Given the description of an element on the screen output the (x, y) to click on. 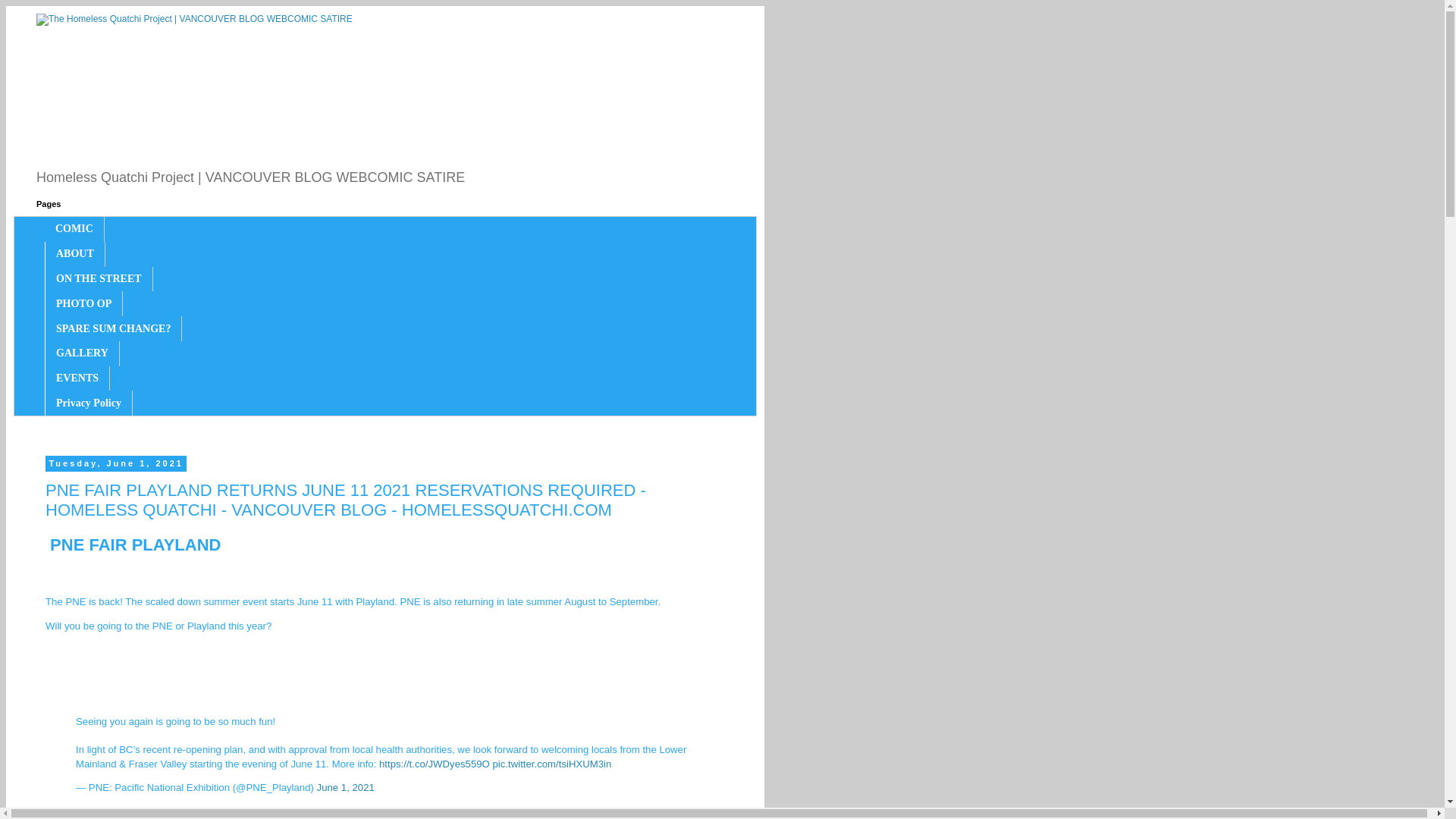
Privacy Policy (88, 402)
June 1, 2021 (345, 787)
ON THE STREET (98, 278)
PHOTO OP (83, 303)
COMIC (74, 229)
EVENTS (77, 378)
ABOUT (74, 253)
SPARE SUM CHANGE? (113, 328)
GALLERY (82, 353)
